Given the description of an element on the screen output the (x, y) to click on. 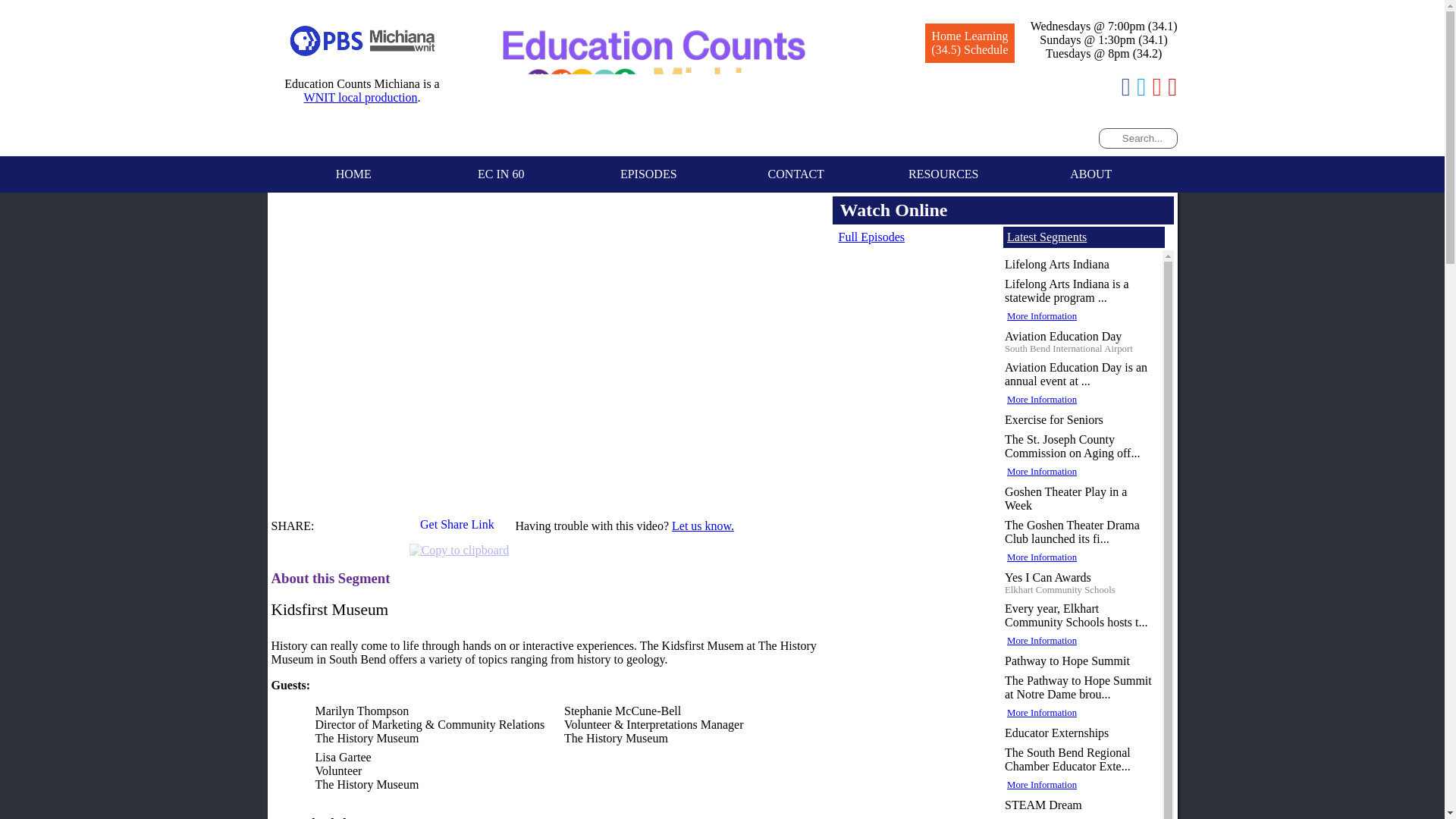
Get Share Link (459, 528)
EC IN 60 (501, 174)
CONTACT (795, 174)
ABOUT (1091, 174)
WNIT local production (360, 97)
RESOURCES (943, 174)
HOME (353, 174)
EPISODES (648, 174)
Let us know. (702, 525)
